Given the description of an element on the screen output the (x, y) to click on. 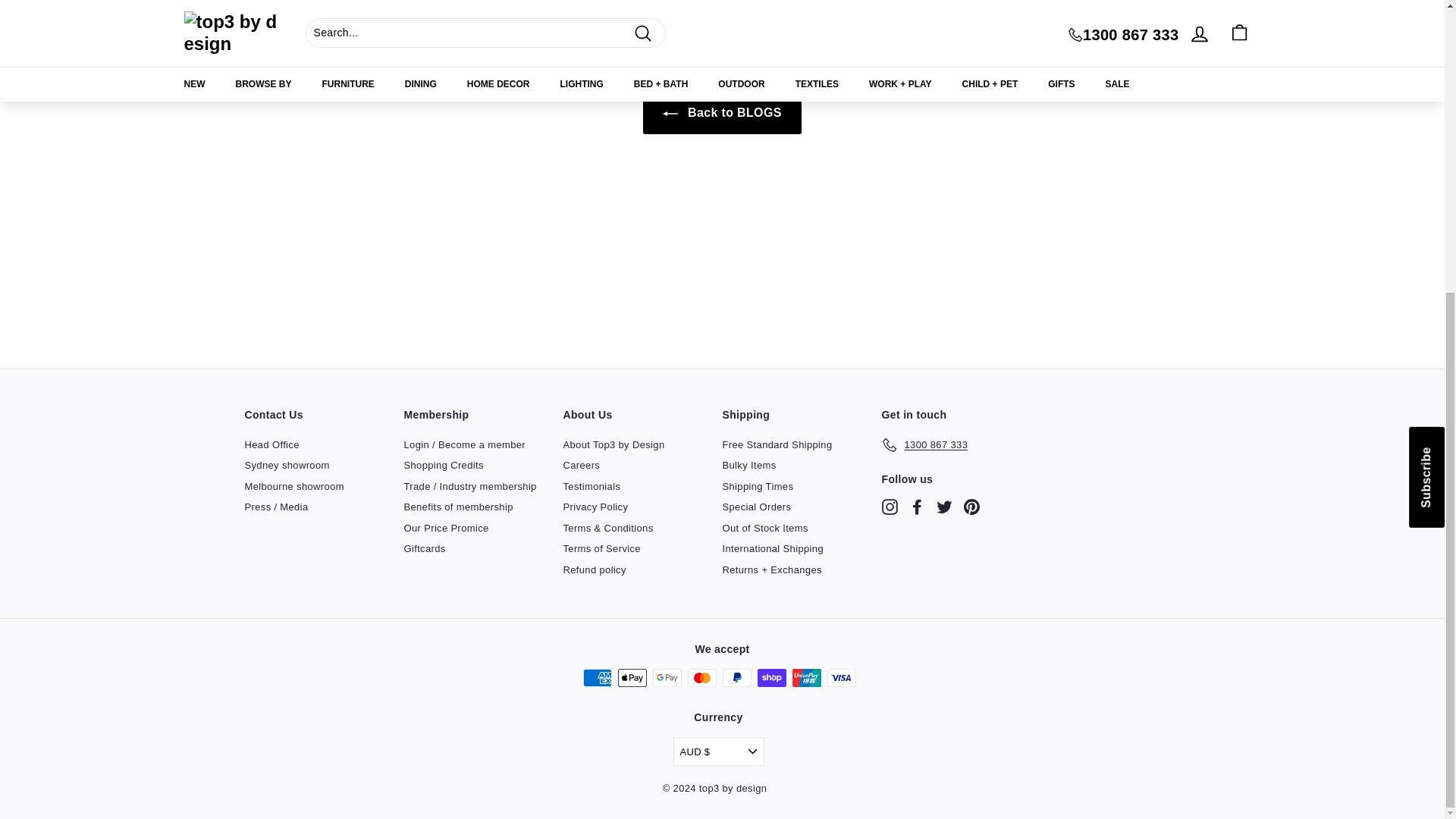
Mastercard (701, 678)
Apple Pay (631, 678)
top3 by design on Instagram (888, 506)
American Express (596, 678)
Google Pay (666, 678)
top3 by design on Twitter (944, 506)
top3 by design on Pinterest (970, 506)
PayPal (736, 678)
top3 by design on Facebook (916, 506)
